Given the description of an element on the screen output the (x, y) to click on. 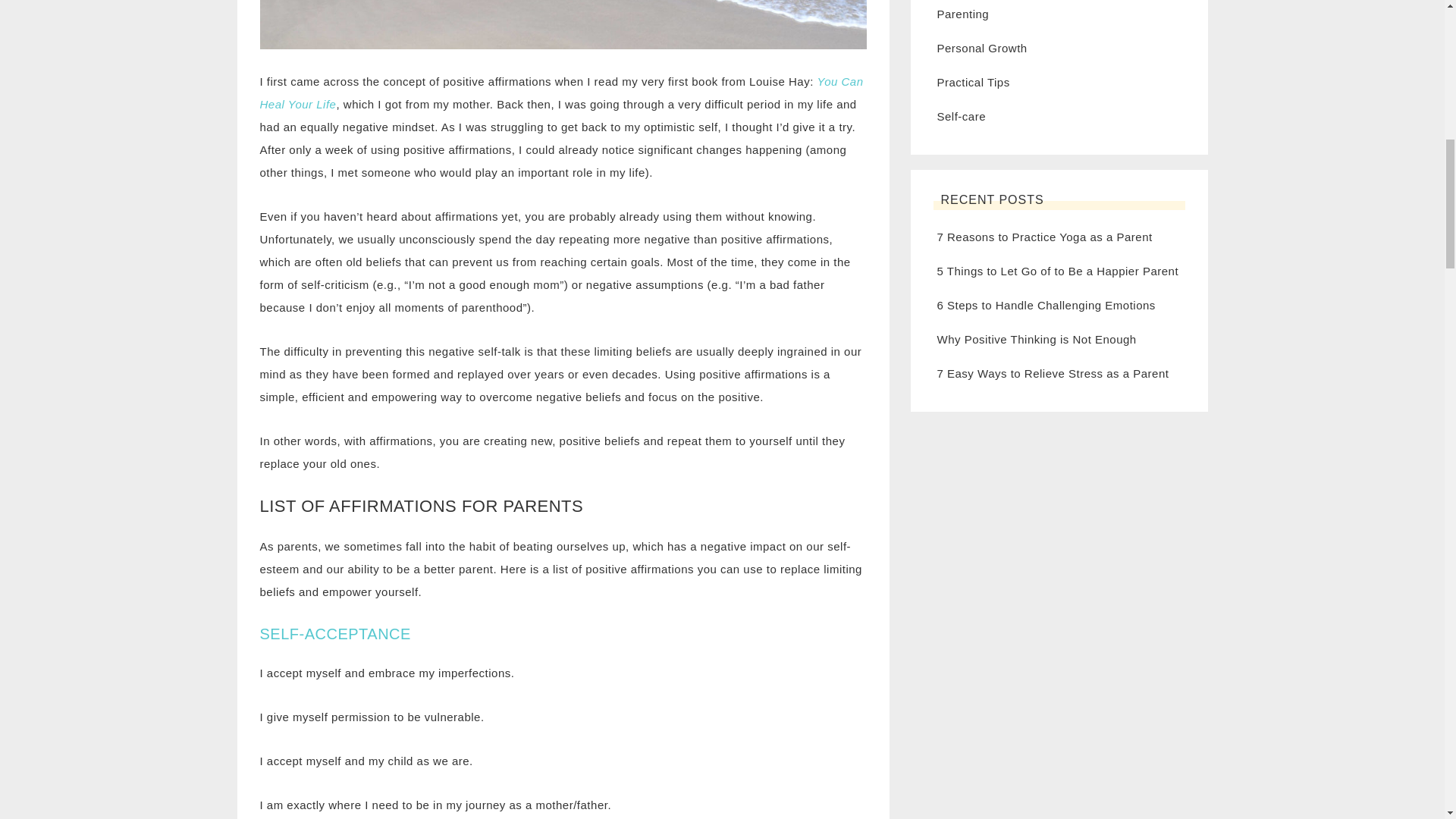
Why Positive Thinking is Not Enough (1037, 338)
5 Things to Let Go of to Be a Happier Parent (1058, 270)
You Can Heal Your Life (561, 92)
7 Easy Ways to Relieve Stress as a Parent (1053, 373)
Self-care (962, 115)
7 Reasons to Practice Yoga as a Parent (1045, 236)
Personal Growth (982, 47)
Parenting (963, 13)
6 Steps to Handle Challenging Emotions (1046, 305)
Practical Tips (973, 82)
